Given the description of an element on the screen output the (x, y) to click on. 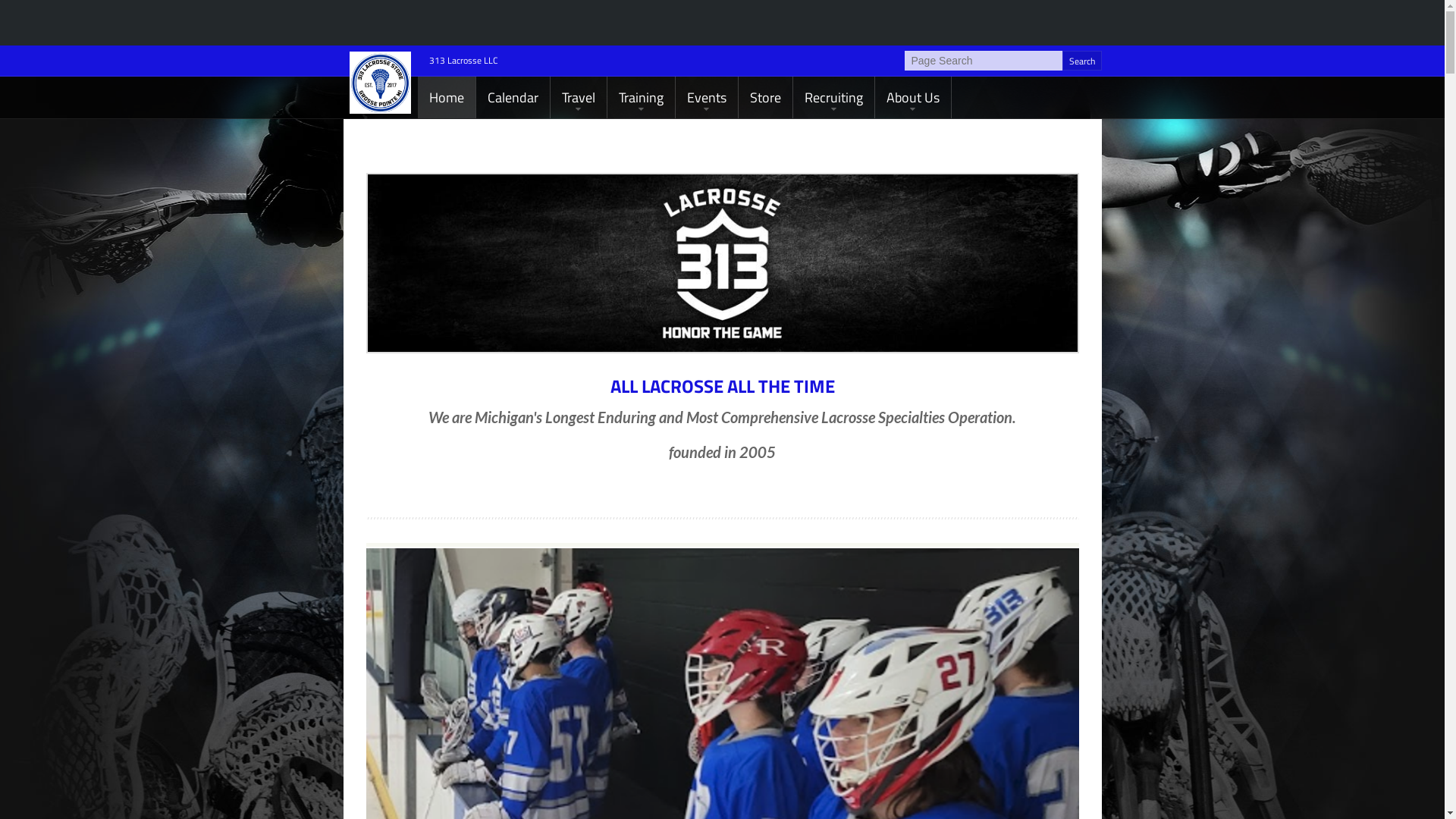
Training Element type: text (640, 97)
Calendar Element type: text (512, 97)
Home Element type: text (445, 97)
About Us Element type: text (912, 97)
Events Element type: text (705, 97)
Travel Element type: text (578, 97)
Store Element type: text (765, 97)
Recruiting Element type: text (833, 97)
